Given the description of an element on the screen output the (x, y) to click on. 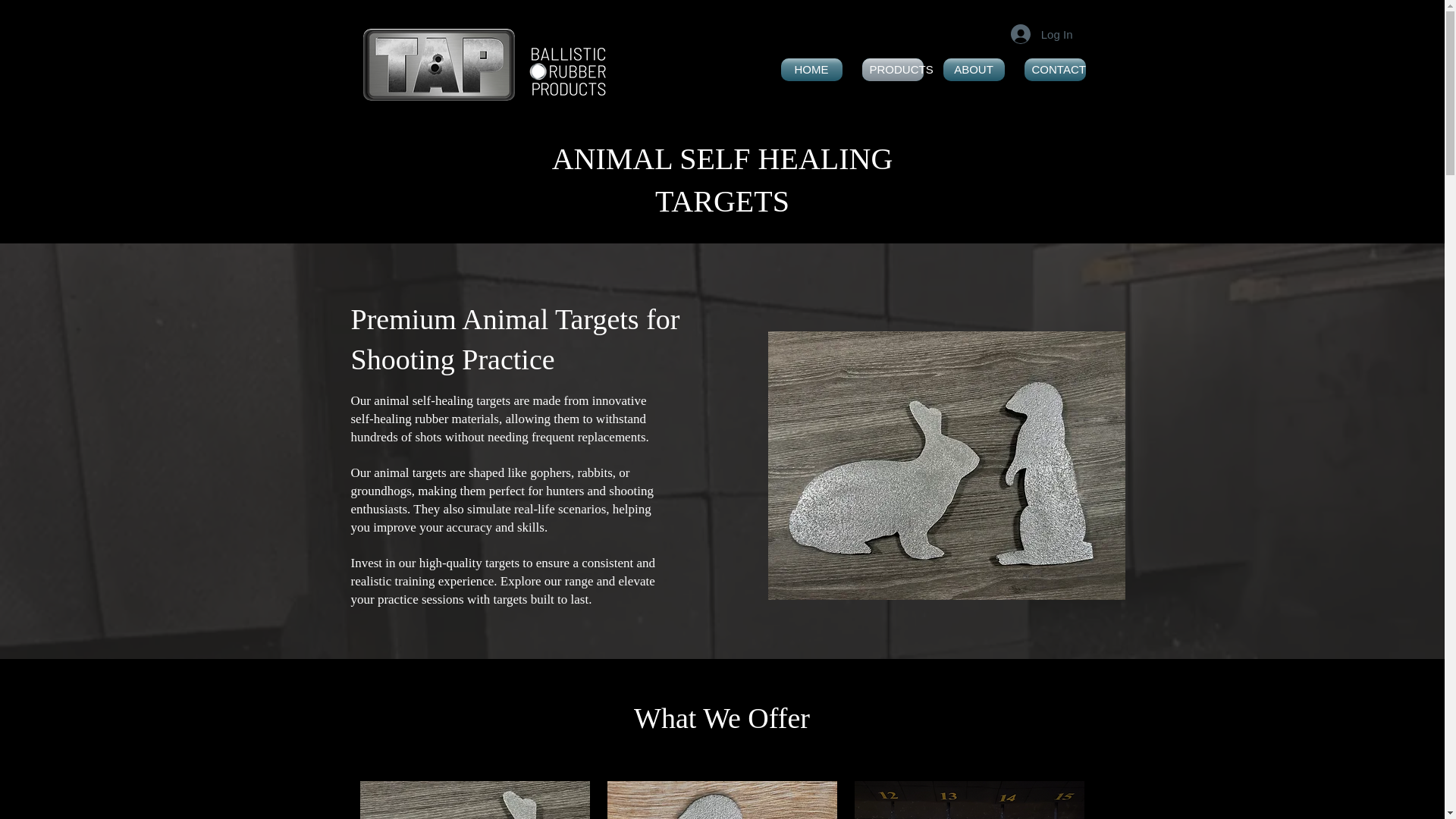
CONTACT (1055, 69)
ABOUT (973, 69)
Log In (1041, 33)
HOME (810, 69)
PRODUCTS (892, 69)
